Given the description of an element on the screen output the (x, y) to click on. 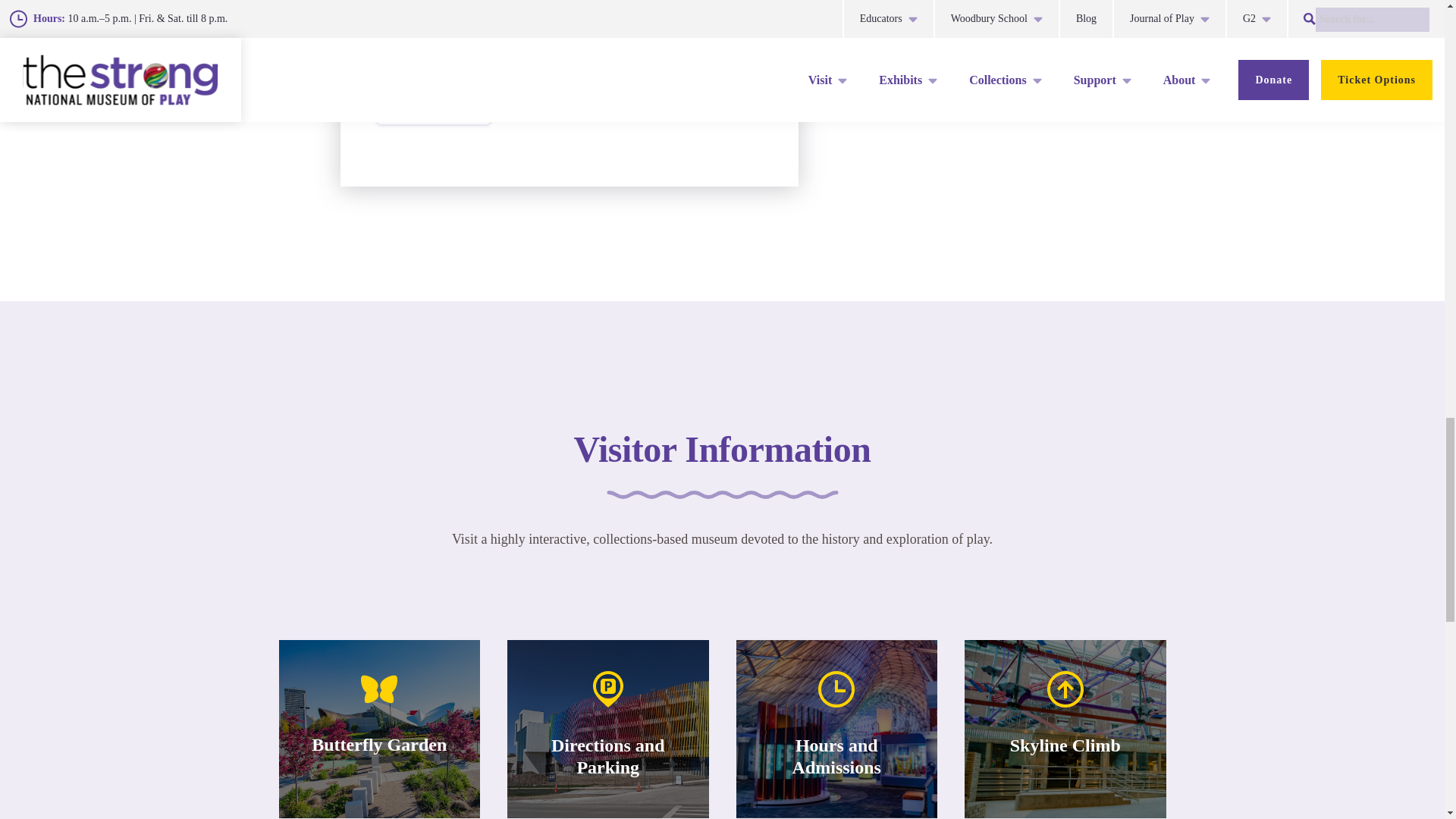
2022-02-25 (559, 55)
2022-02-25 (429, 0)
